Given the description of an element on the screen output the (x, y) to click on. 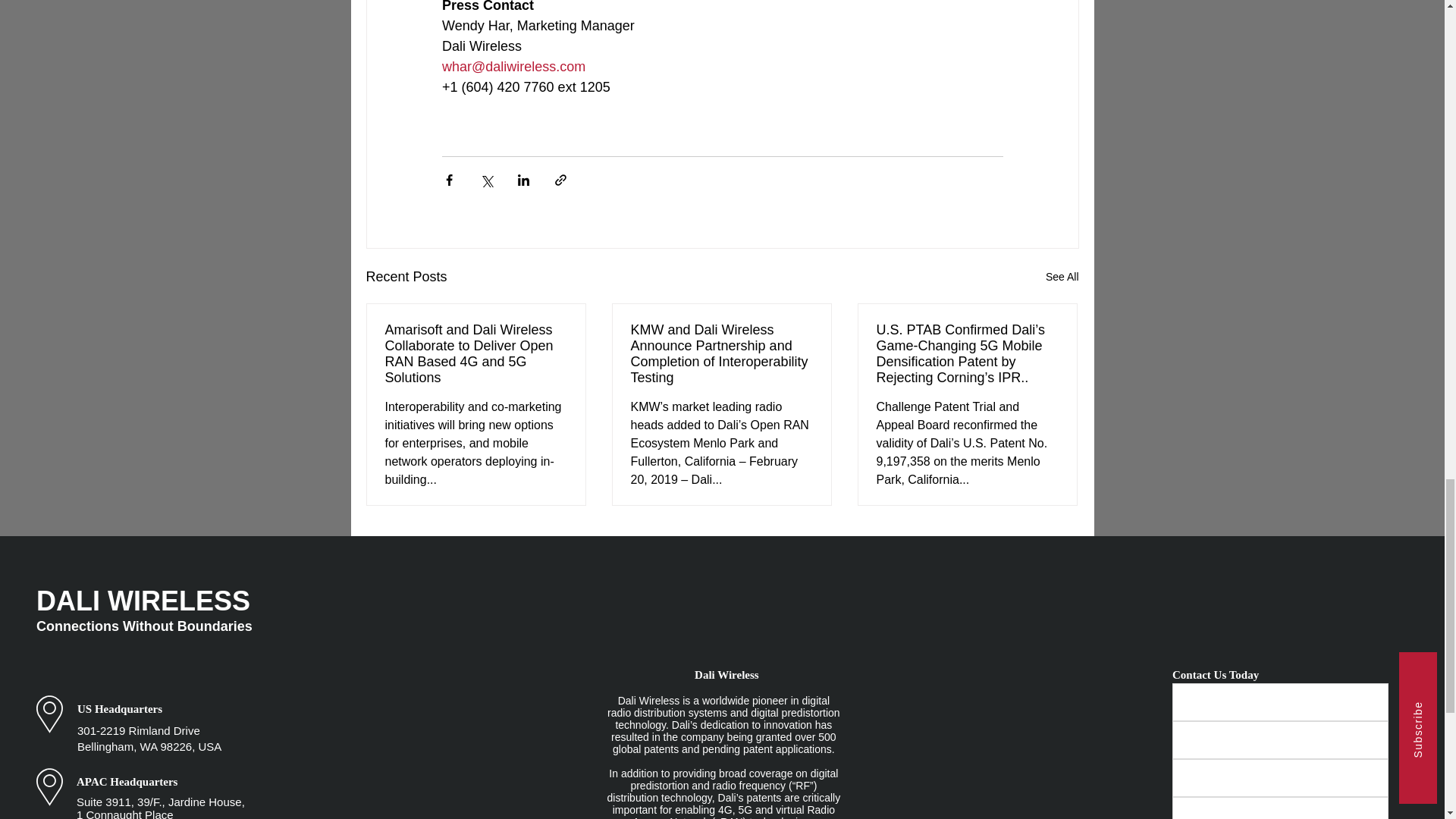
DALI WIRELESS (143, 600)
Connections Without Boundaries (143, 626)
See All (1061, 277)
